Given the description of an element on the screen output the (x, y) to click on. 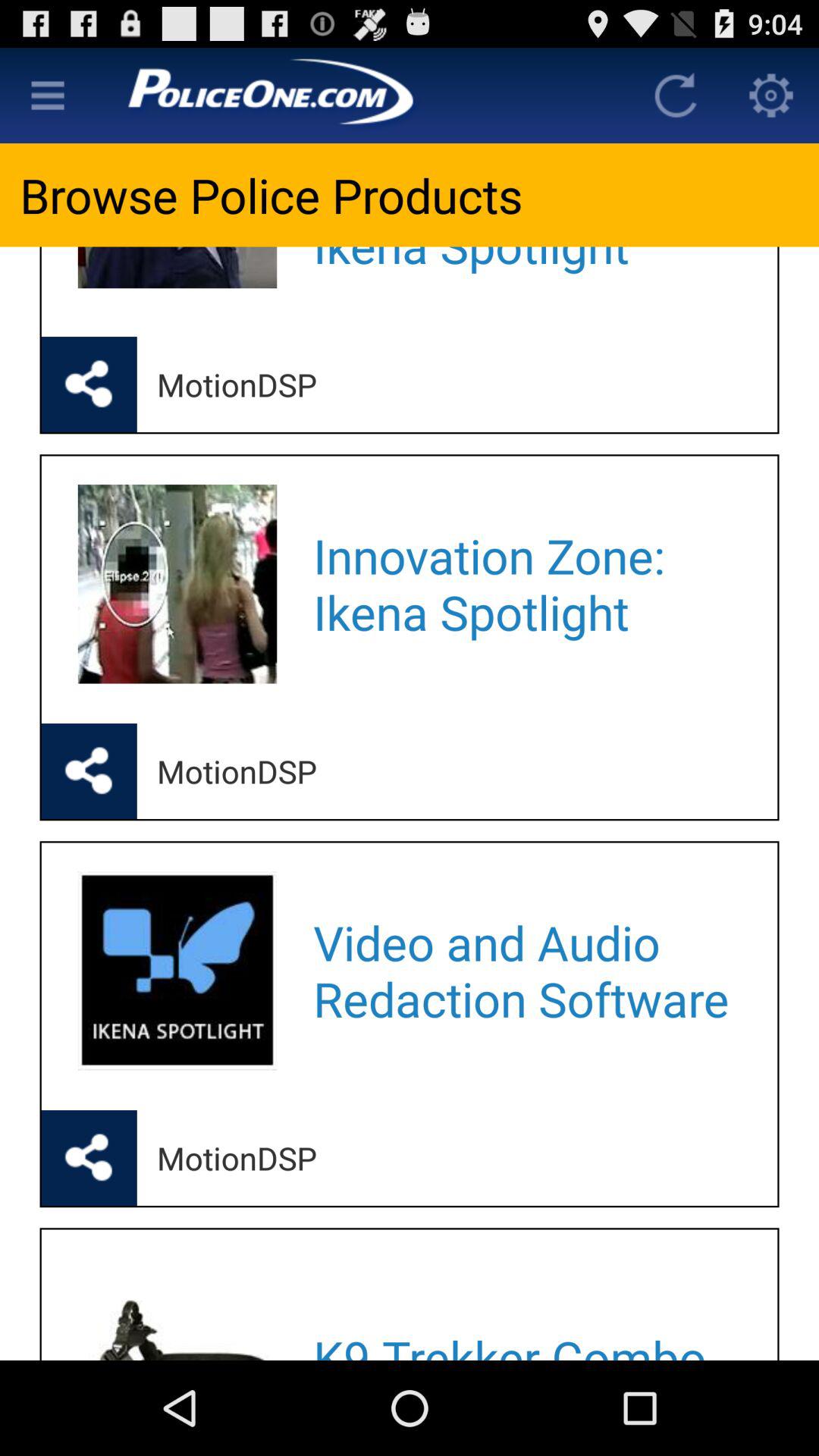
swipe until k9 trekker combo item (525, 1309)
